Given the description of an element on the screen output the (x, y) to click on. 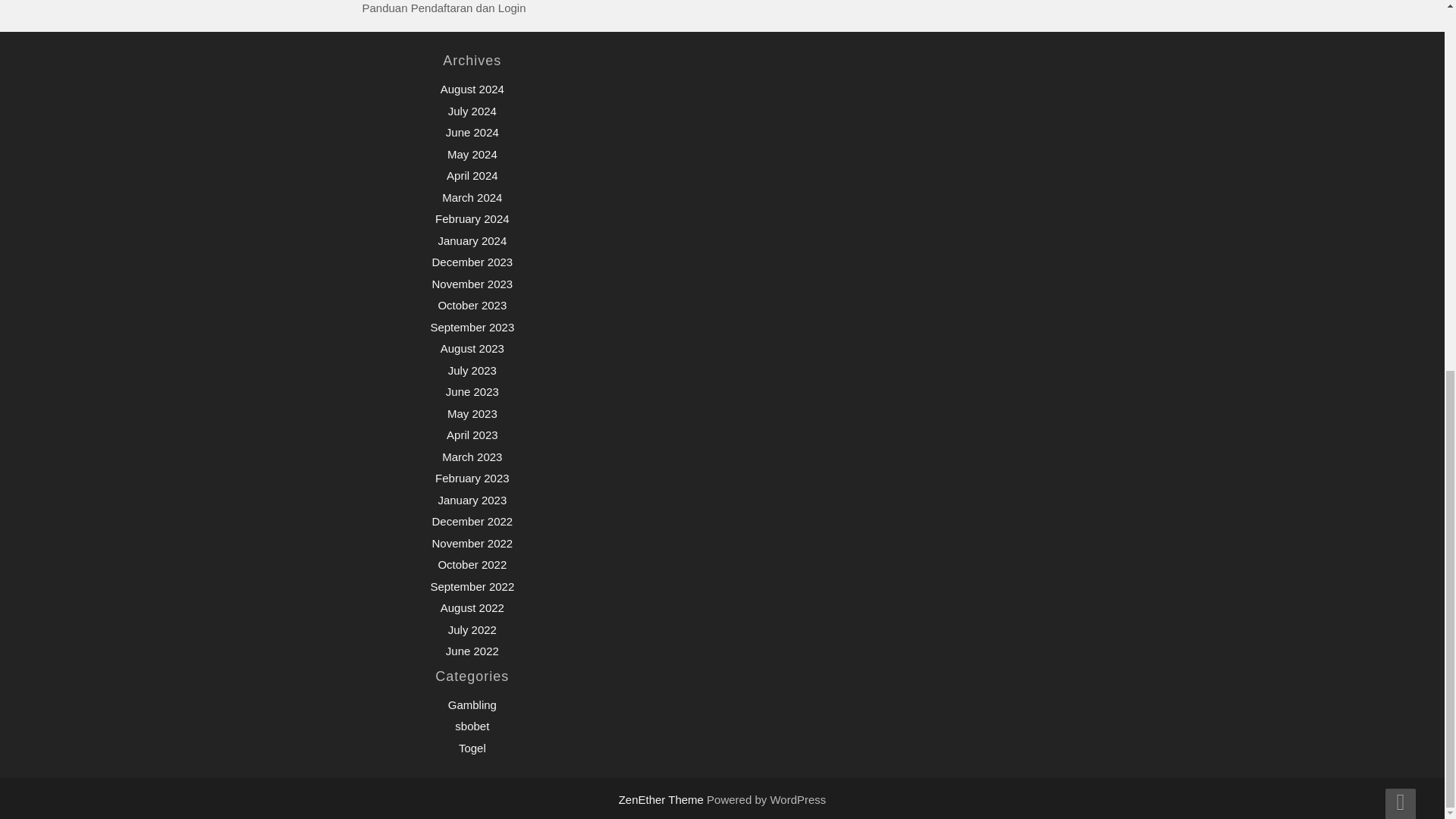
May 2023 (471, 413)
August 2023 (472, 348)
April 2024 (471, 174)
June 2023 (472, 391)
December 2022 (471, 521)
January 2023 (472, 499)
April 2023 (471, 434)
October 2022 (472, 563)
December 2023 (471, 261)
February 2024 (472, 218)
